Given the description of an element on the screen output the (x, y) to click on. 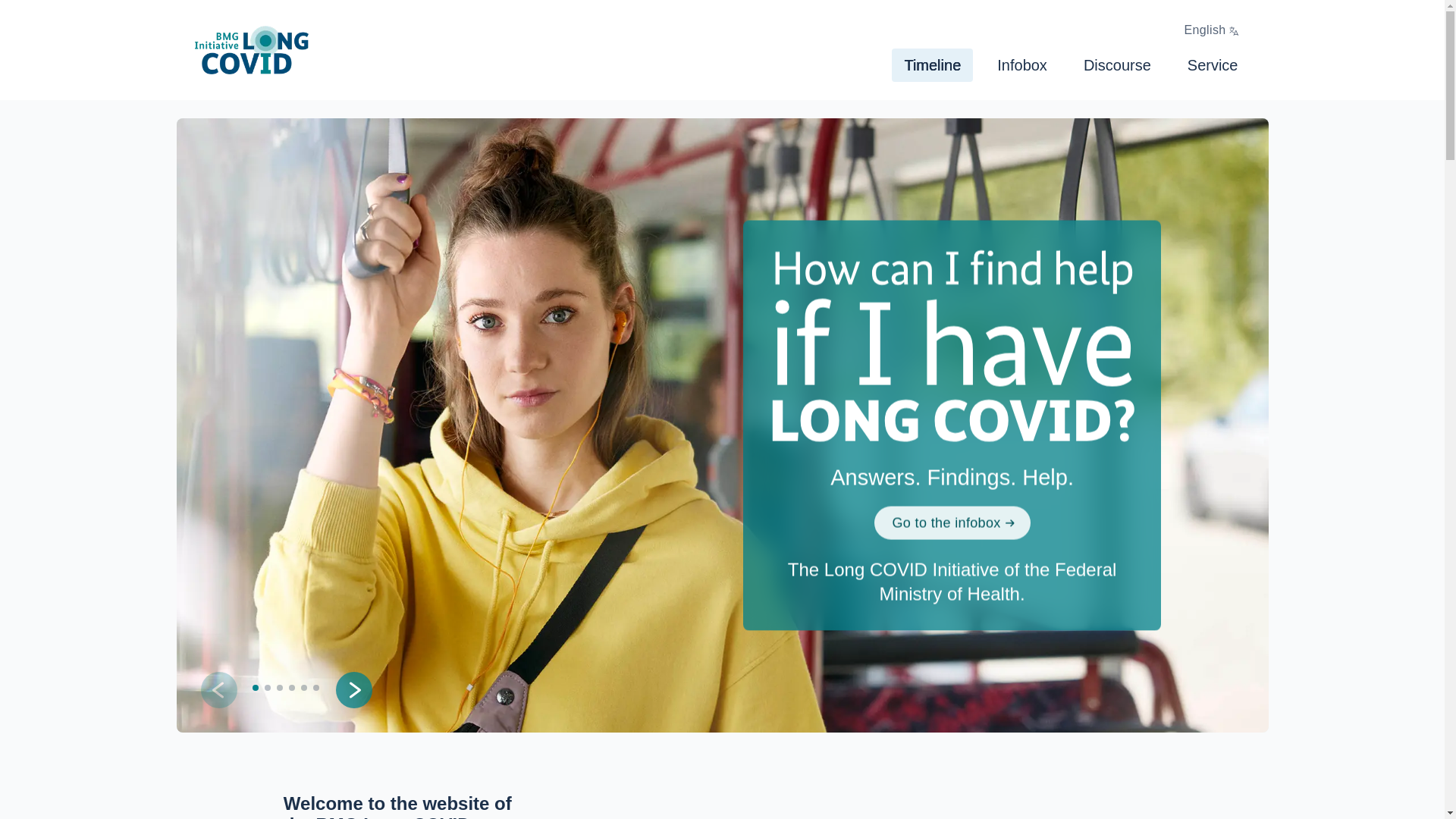
Service (1212, 64)
English (1210, 30)
Infobox (1022, 64)
Discourse (1117, 64)
Timeline (931, 64)
Go to the infobox (951, 522)
